Given the description of an element on the screen output the (x, y) to click on. 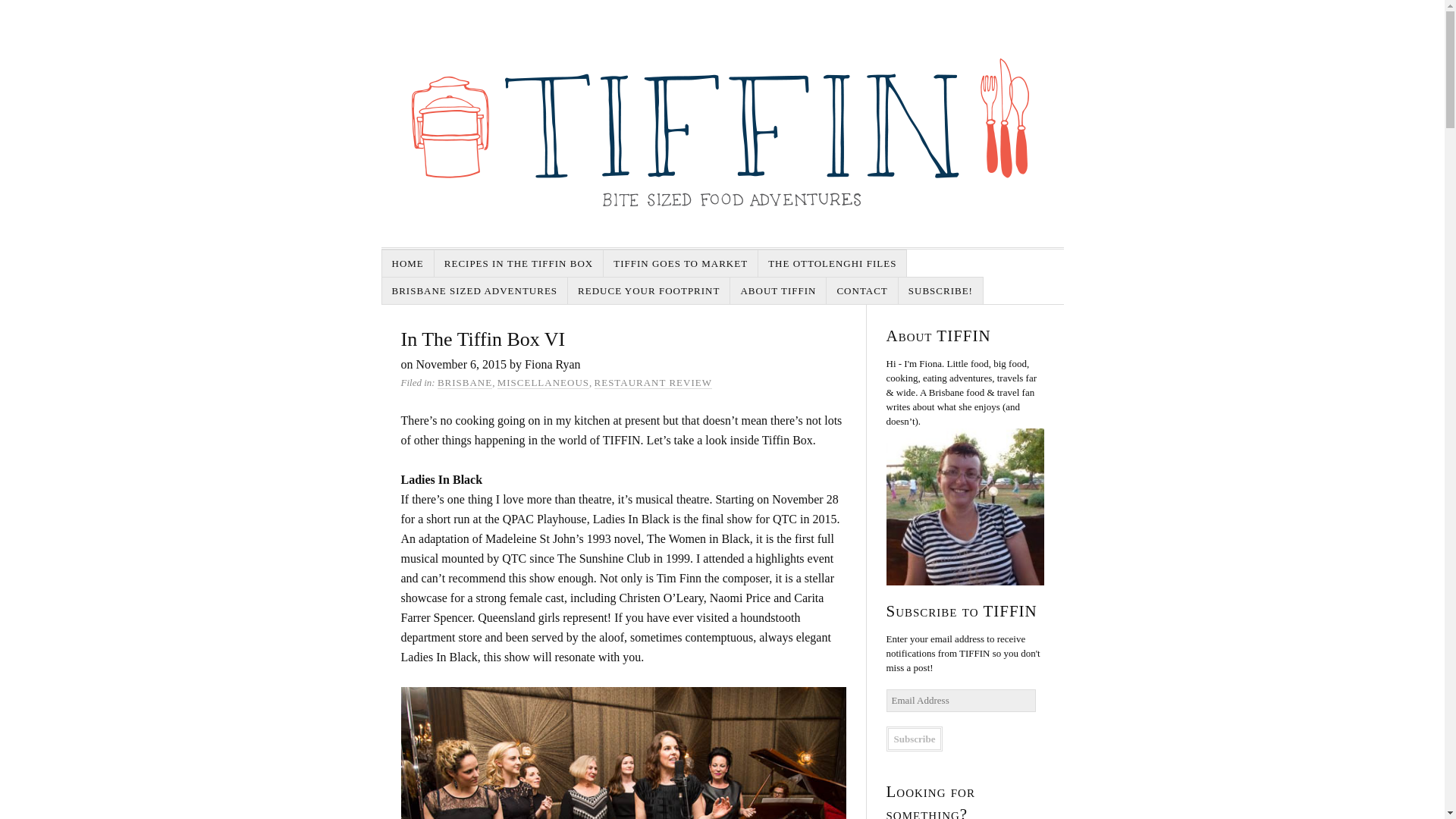
CONTACT (862, 290)
BRISBANE (465, 382)
BRISBANE SIZED ADVENTURES (475, 290)
RECIPES IN THE TIFFIN BOX (518, 263)
THE OTTOLENGHI FILES (832, 263)
REDUCE YOUR FOOTPRINT (648, 290)
MISCELLANEOUS (543, 382)
RESTAURANT REVIEW (652, 382)
ABOUT TIFFIN (778, 290)
HOME (407, 263)
